Given the description of an element on the screen output the (x, y) to click on. 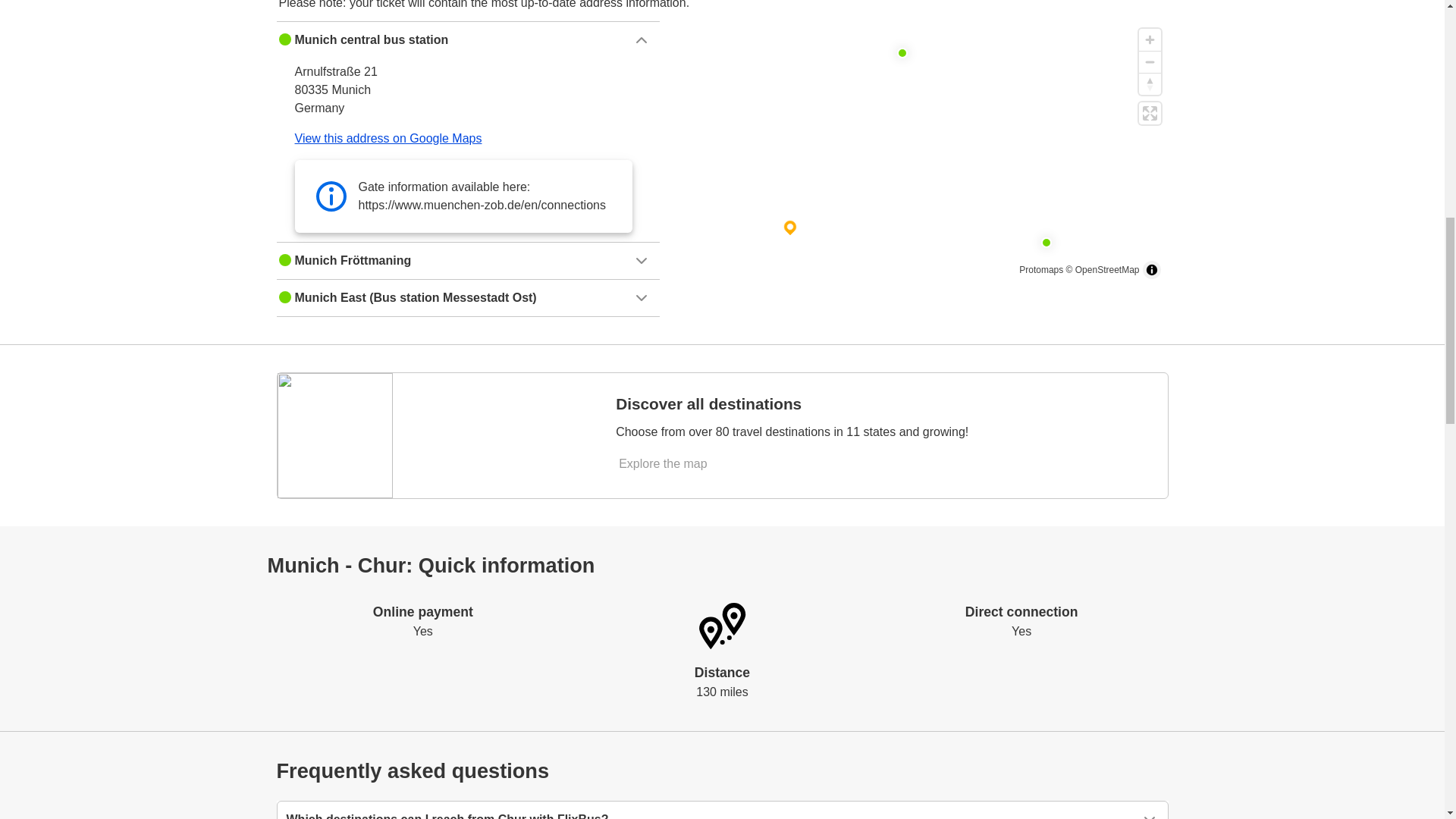
Toggle attribution (1150, 270)
View this address on Google Maps (388, 137)
Reset bearing to north (1149, 83)
Explore the map (664, 463)
Zoom out (1149, 61)
OpenStreetMap (1107, 269)
Enter fullscreen (1149, 113)
Zoom in (1149, 39)
Protomaps (1040, 269)
